Given the description of an element on the screen output the (x, y) to click on. 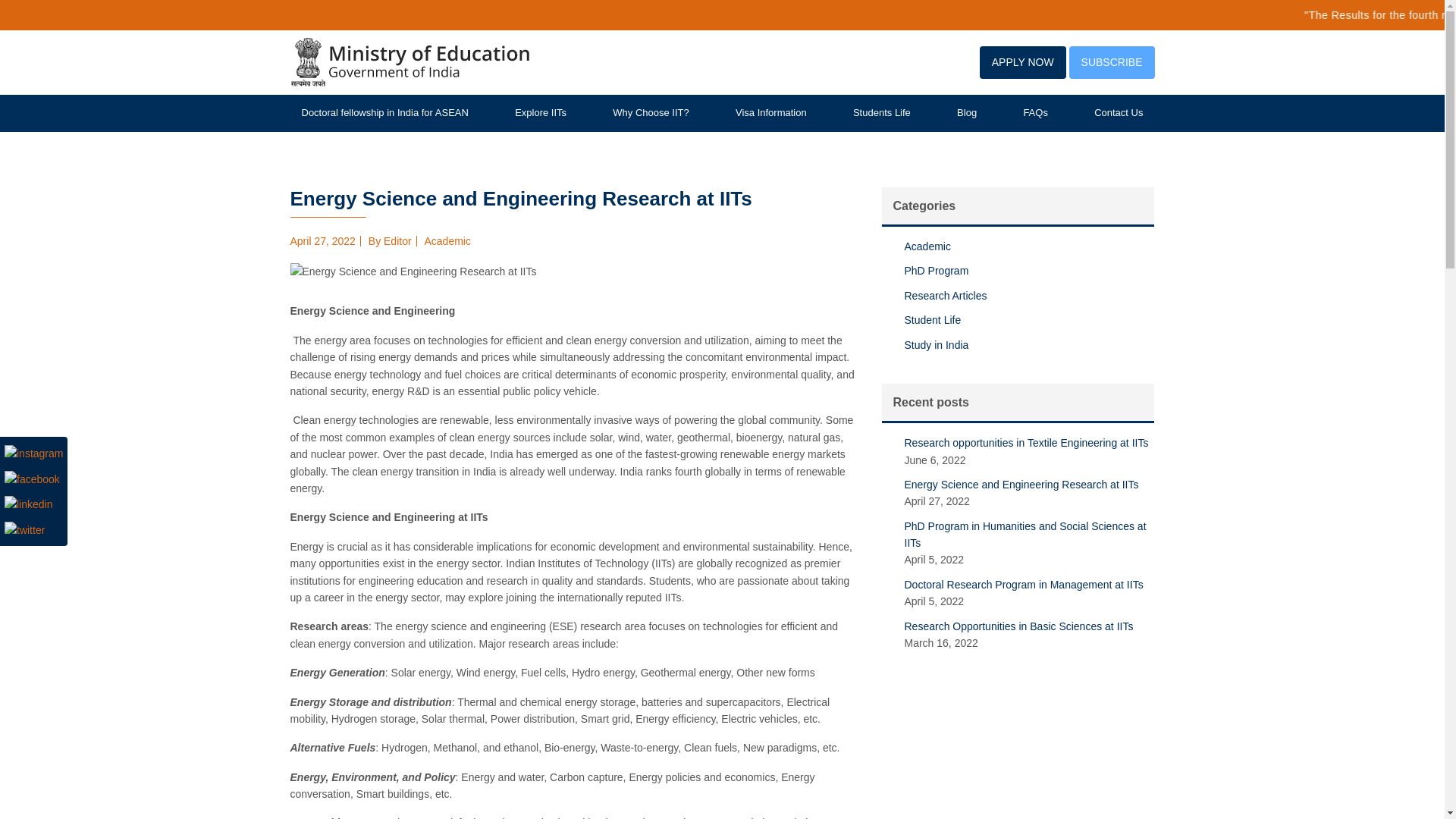
Explore IITs (539, 113)
Doctoral fellowship in India for ASEAN (385, 113)
SUBSCRIBE (1111, 61)
Blog (966, 113)
Study in India (936, 345)
Student Life (932, 319)
Visa Information (770, 113)
PhD Program (936, 270)
Contact Us (1118, 113)
Academic (927, 246)
Students Life (881, 113)
Academic (447, 241)
April 27, 2022 (322, 241)
APPLY NOW (1022, 61)
By Editor (390, 241)
